Given the description of an element on the screen output the (x, y) to click on. 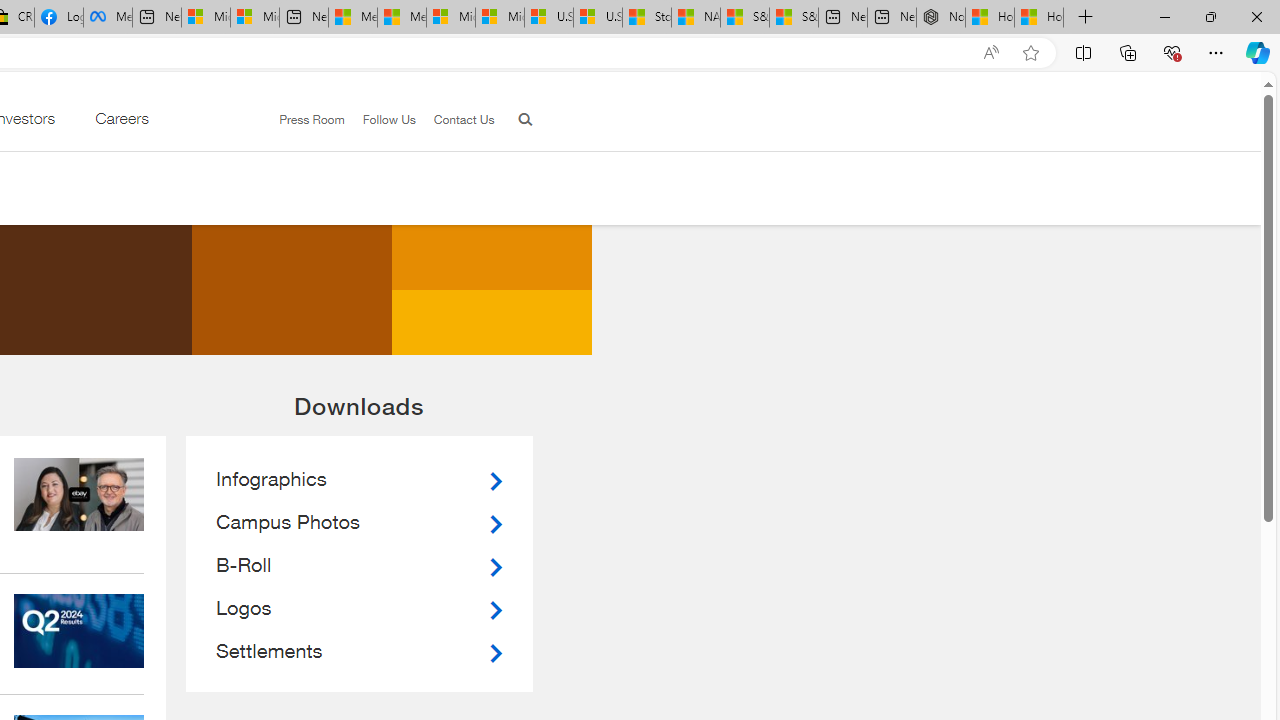
Follow Us (389, 119)
Contact Us (454, 120)
Restore (1210, 16)
Add this page to favorites (Ctrl+D) (1030, 53)
Read aloud this page (Ctrl+Shift+U) (991, 53)
Split screen (1083, 52)
Careers (121, 123)
Press Room (303, 120)
Meta Store (107, 17)
Collections (1128, 52)
